Given the description of an element on the screen output the (x, y) to click on. 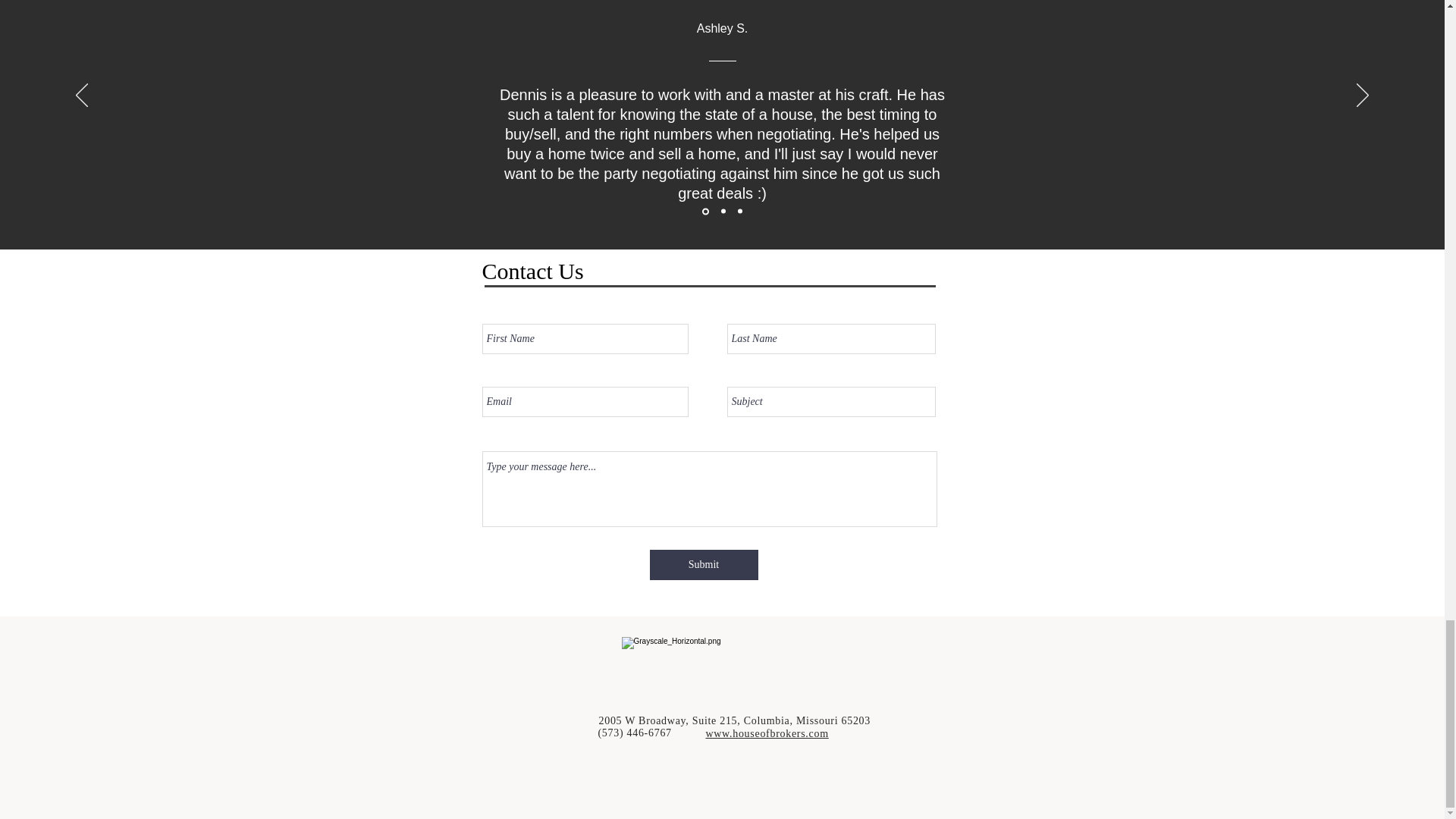
Submit (703, 564)
www.houseofbrokers.com (766, 733)
